Given the description of an element on the screen output the (x, y) to click on. 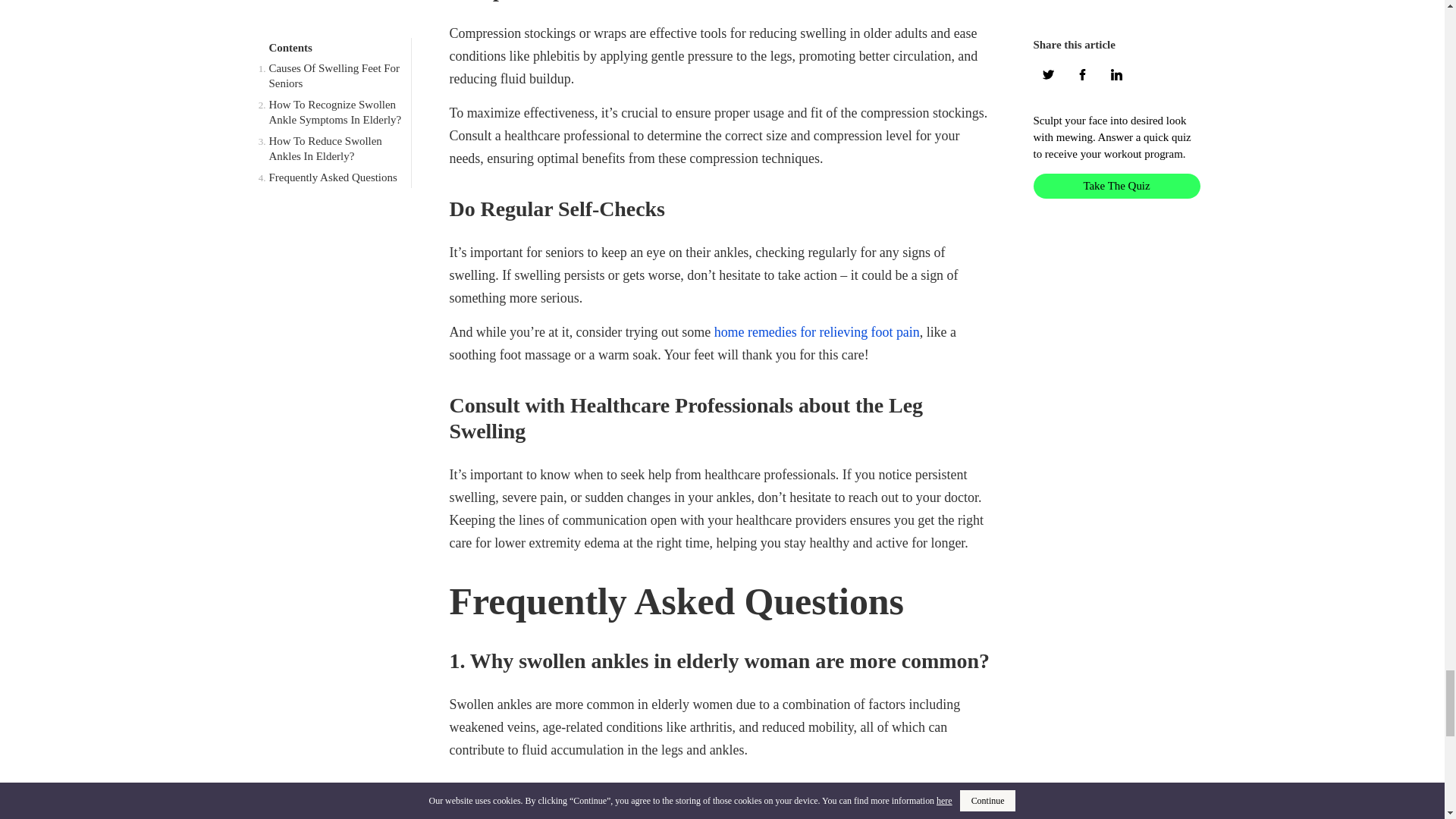
home remedies for relieving foot pain (817, 331)
